Given the description of an element on the screen output the (x, y) to click on. 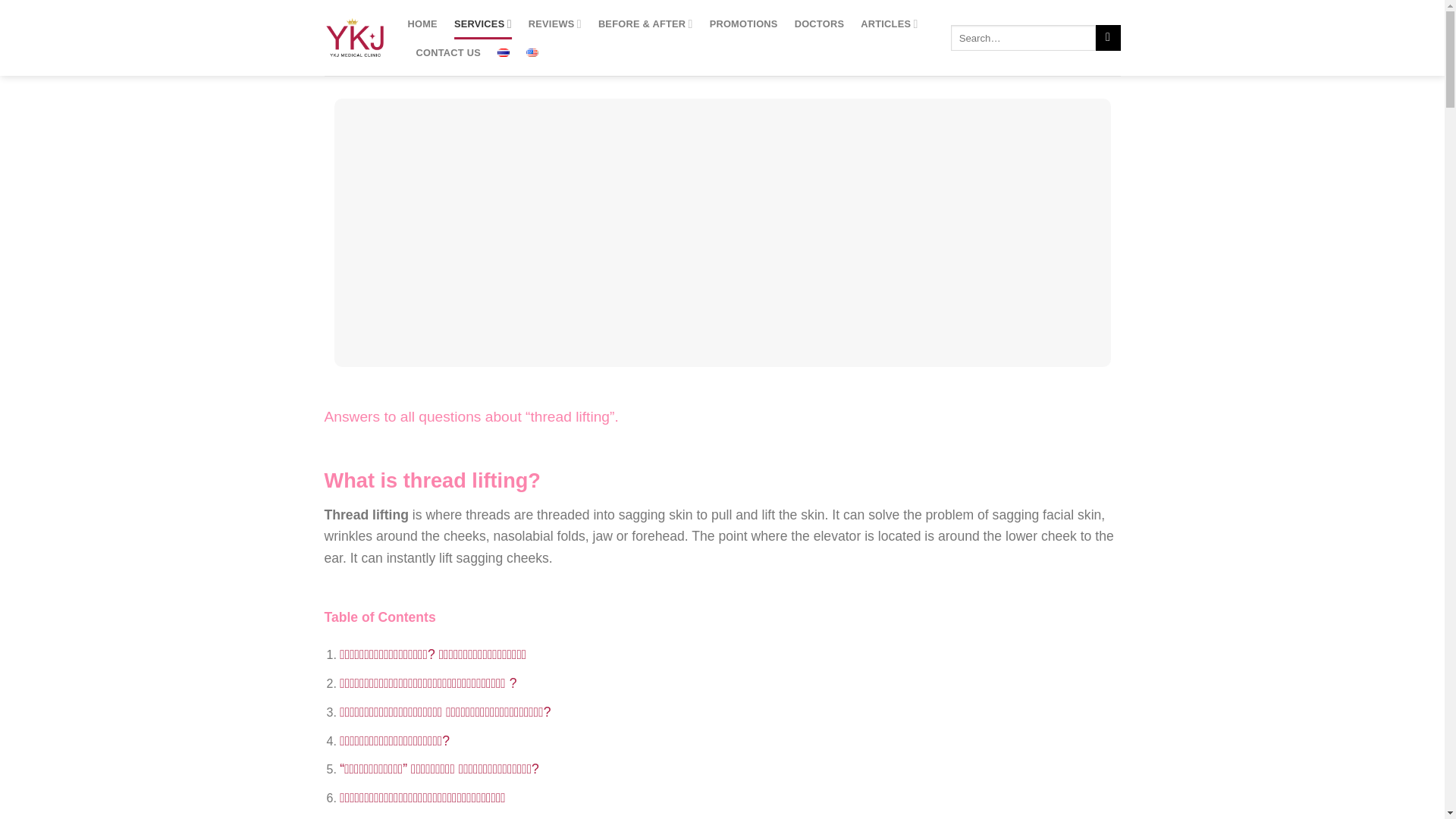
SERVICES (483, 23)
HOME (422, 23)
REVIEWS (554, 23)
